Given the description of an element on the screen output the (x, y) to click on. 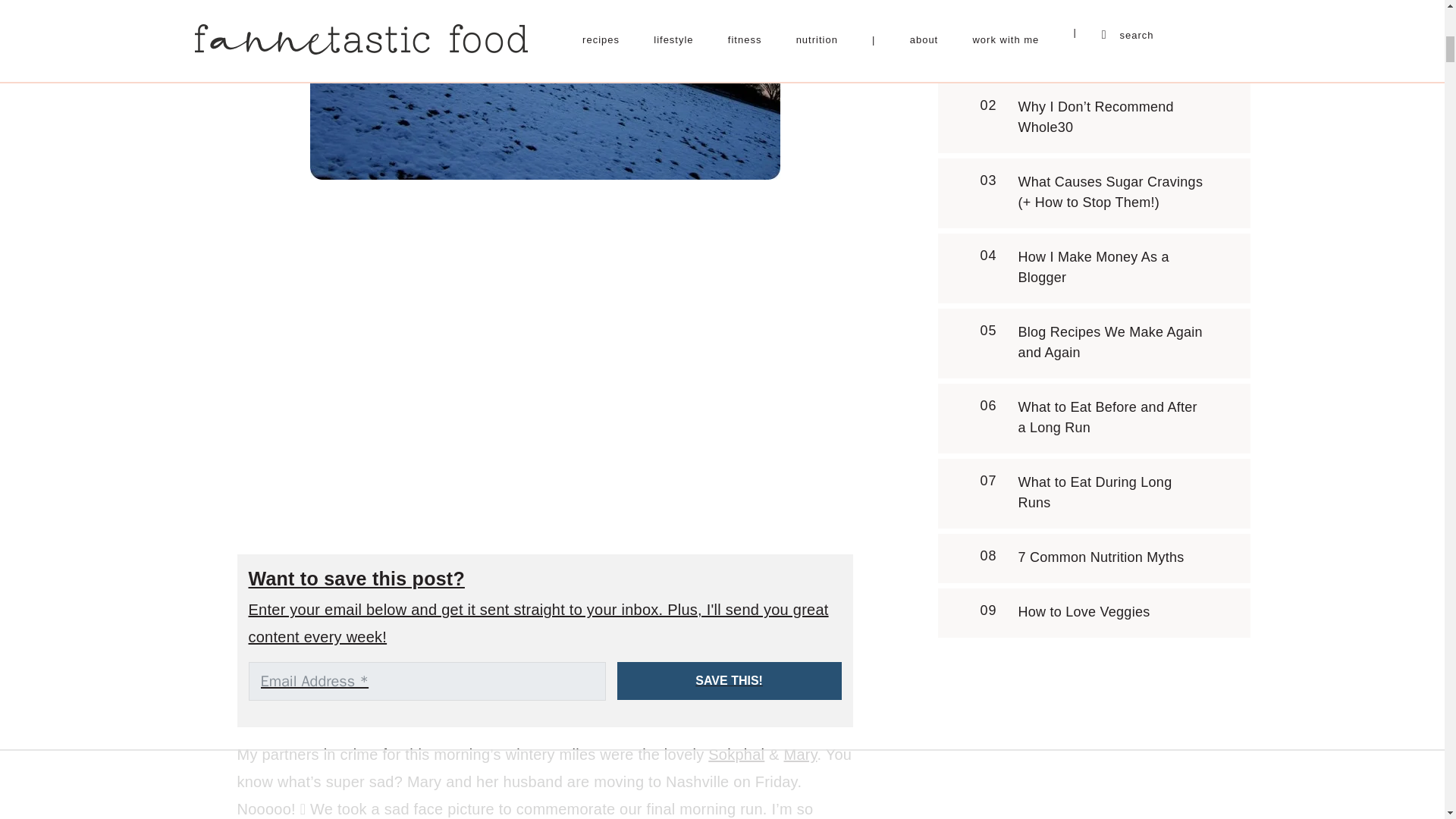
Mary (800, 754)
Sokphal (735, 754)
SAVE THIS! (729, 680)
